Given the description of an element on the screen output the (x, y) to click on. 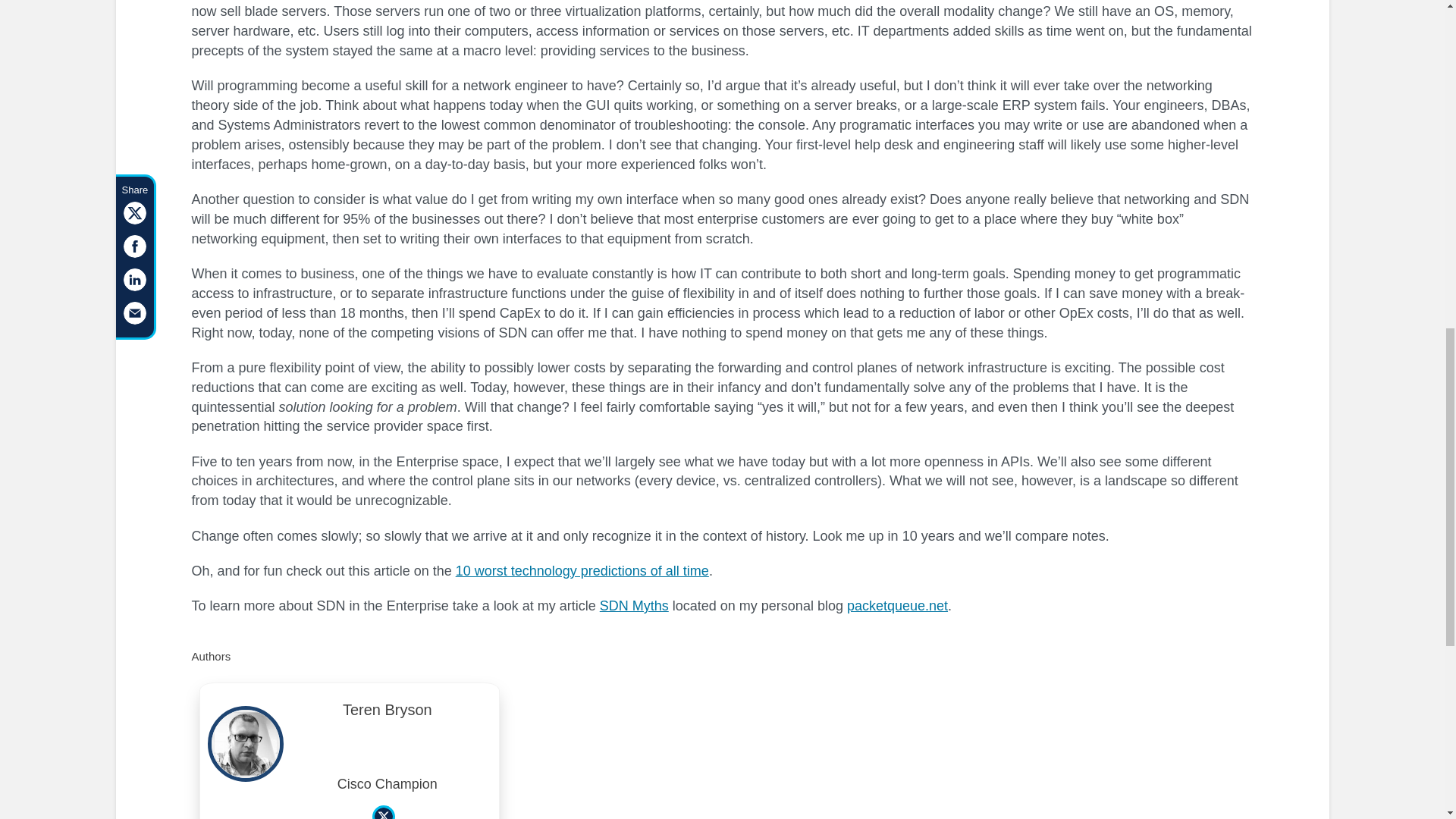
10 worst technology predictions of all time (582, 570)
SDN Myths (633, 605)
packetqueue.net (897, 605)
Teren Bryson (387, 713)
